Given the description of an element on the screen output the (x, y) to click on. 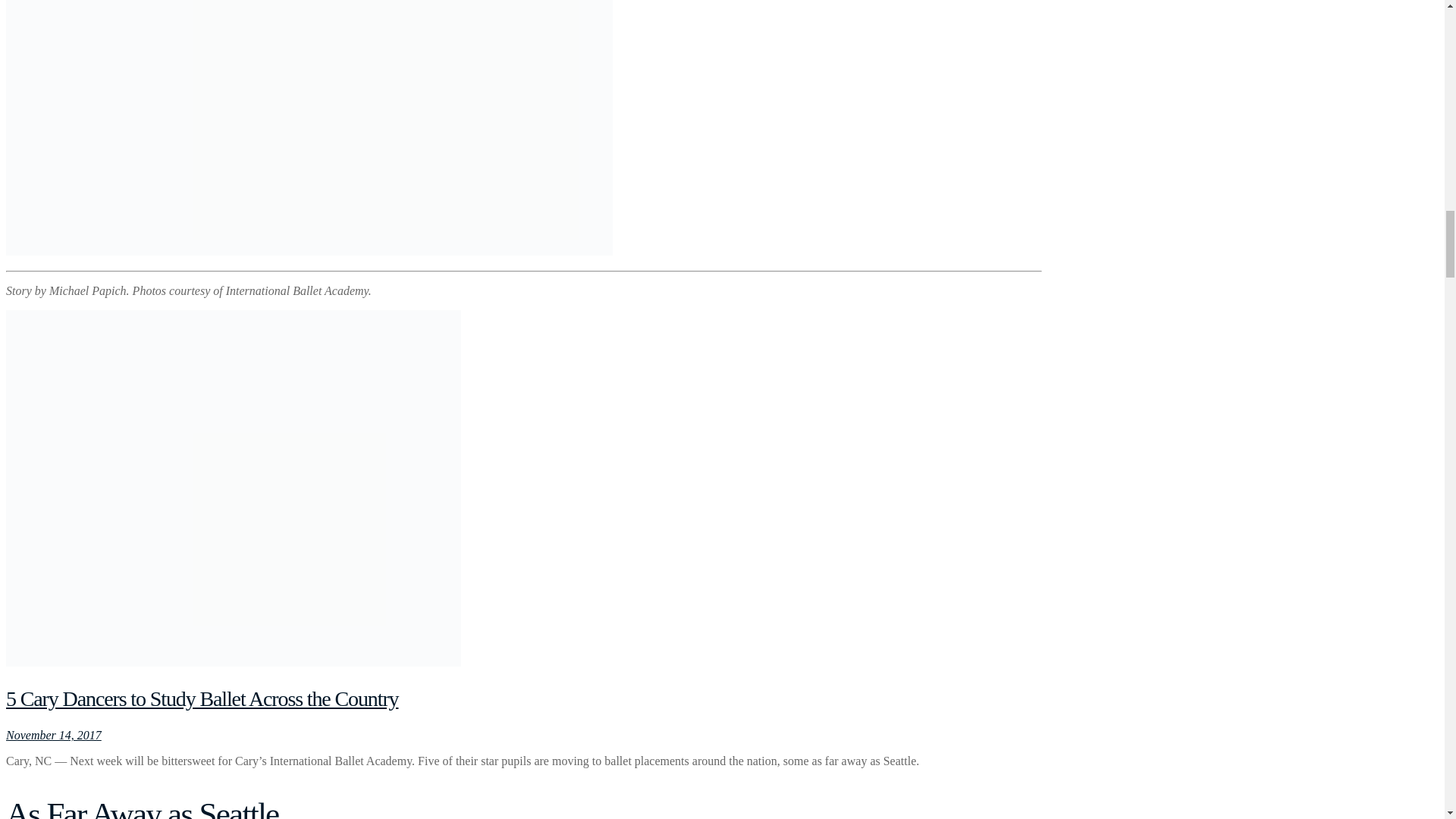
5 Cary Dancers to Study Ballet Across the Country (201, 698)
5 Cary Dancers to Study Ballet Across the Country (201, 698)
November 14, 2017 (53, 735)
